Given the description of an element on the screen output the (x, y) to click on. 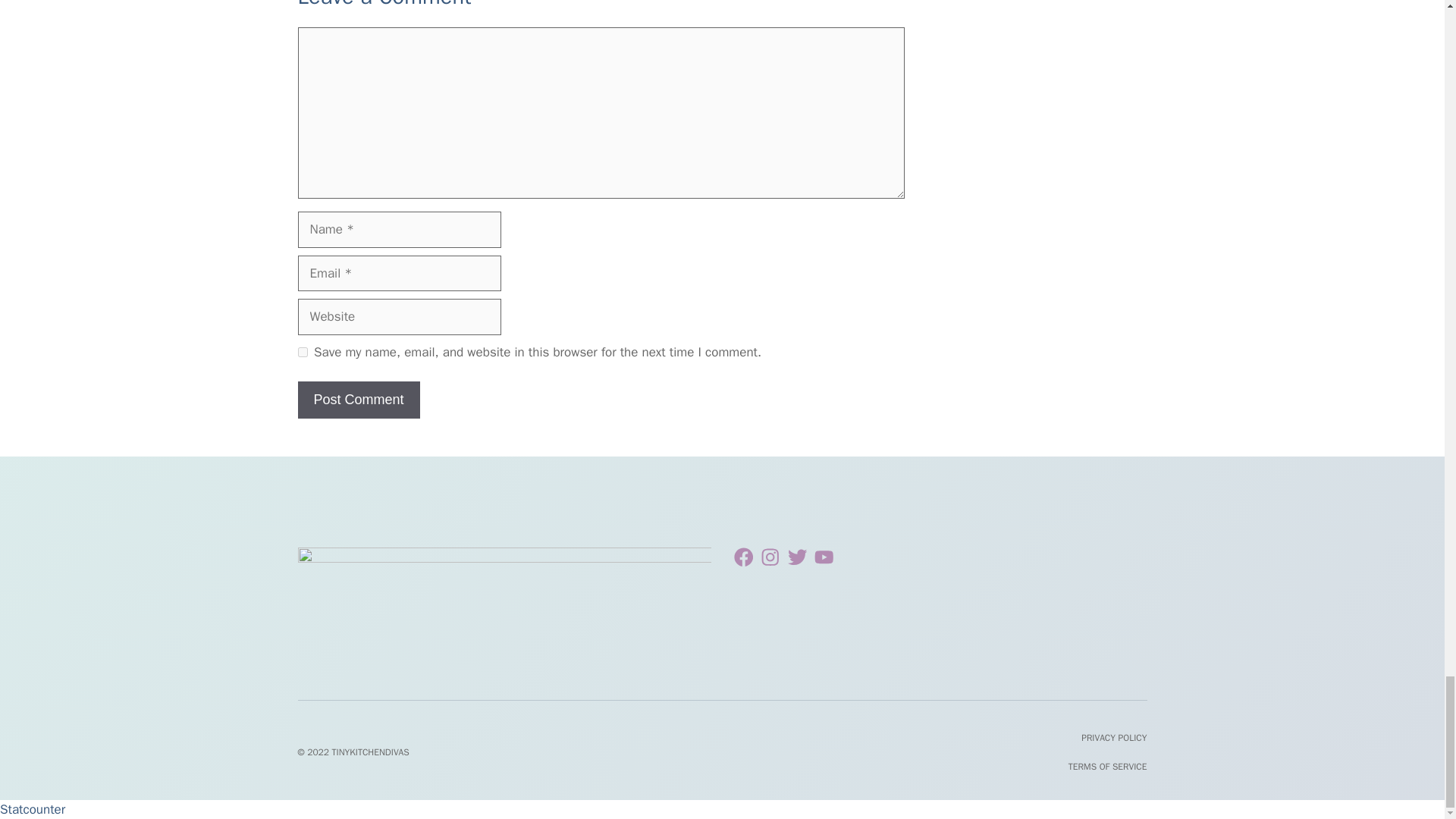
Post Comment (358, 399)
yes (302, 352)
Post Comment (358, 399)
